Given the description of an element on the screen output the (x, y) to click on. 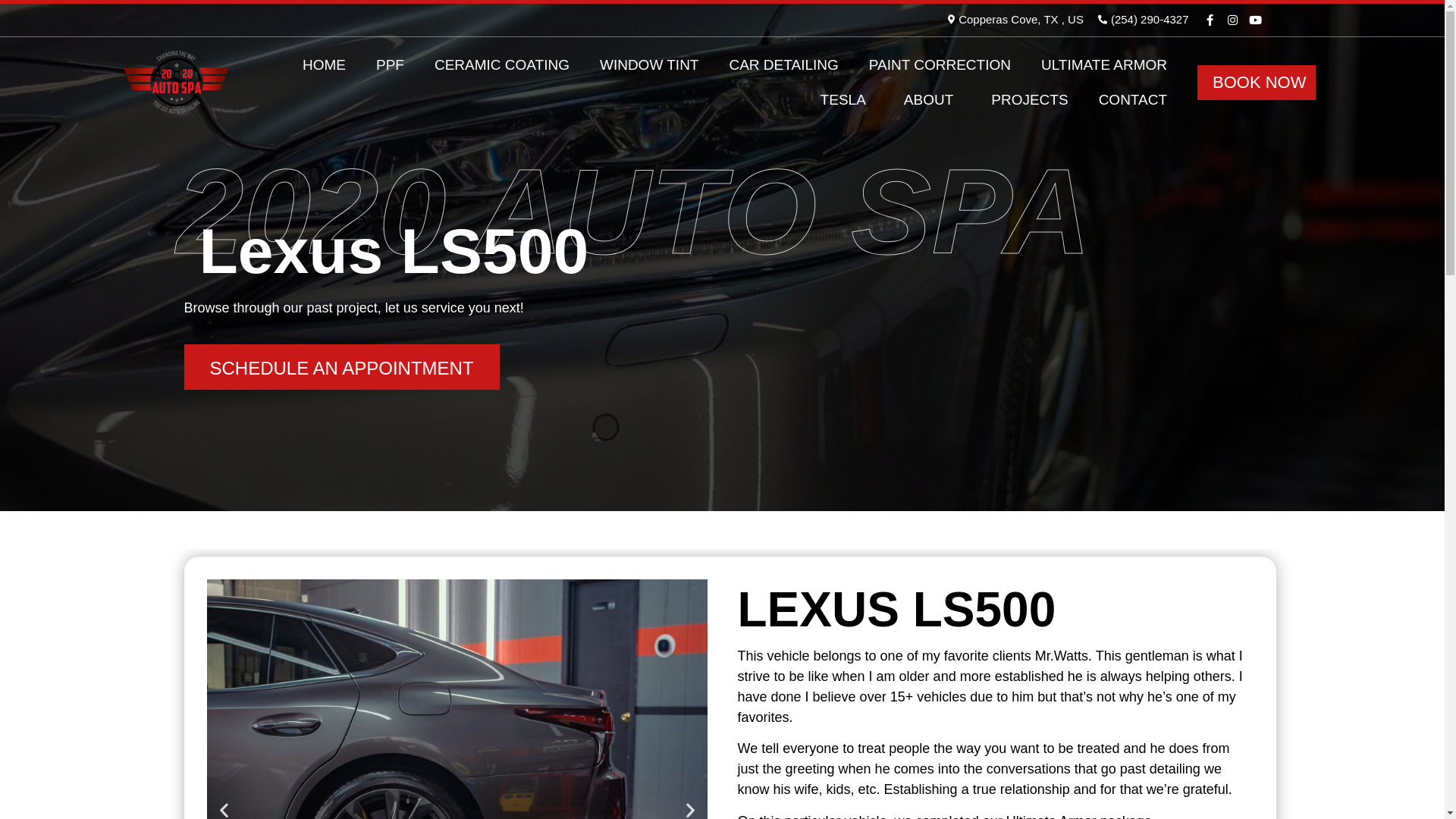
ABOUT Element type: text (931, 98)
SCHEDULE AN APPOINTMENT Element type: text (340, 366)
(254) 290-4327 Element type: text (1142, 19)
PAINT CORRECTION Element type: text (939, 64)
PROJECTS Element type: text (1028, 98)
CONTACT Element type: text (1132, 98)
PPF Element type: text (389, 64)
HOME Element type: text (323, 64)
TESLA Element type: text (846, 98)
CAR DETAILING Element type: text (783, 64)
Copperas Cove, TX , US Element type: text (1013, 19)
ULTIMATE ARMOR Element type: text (1104, 64)
CERAMIC COATING Element type: text (501, 64)
WINDOW TINT Element type: text (649, 64)
BOOK NOW Element type: text (1259, 82)
